Given the description of an element on the screen output the (x, y) to click on. 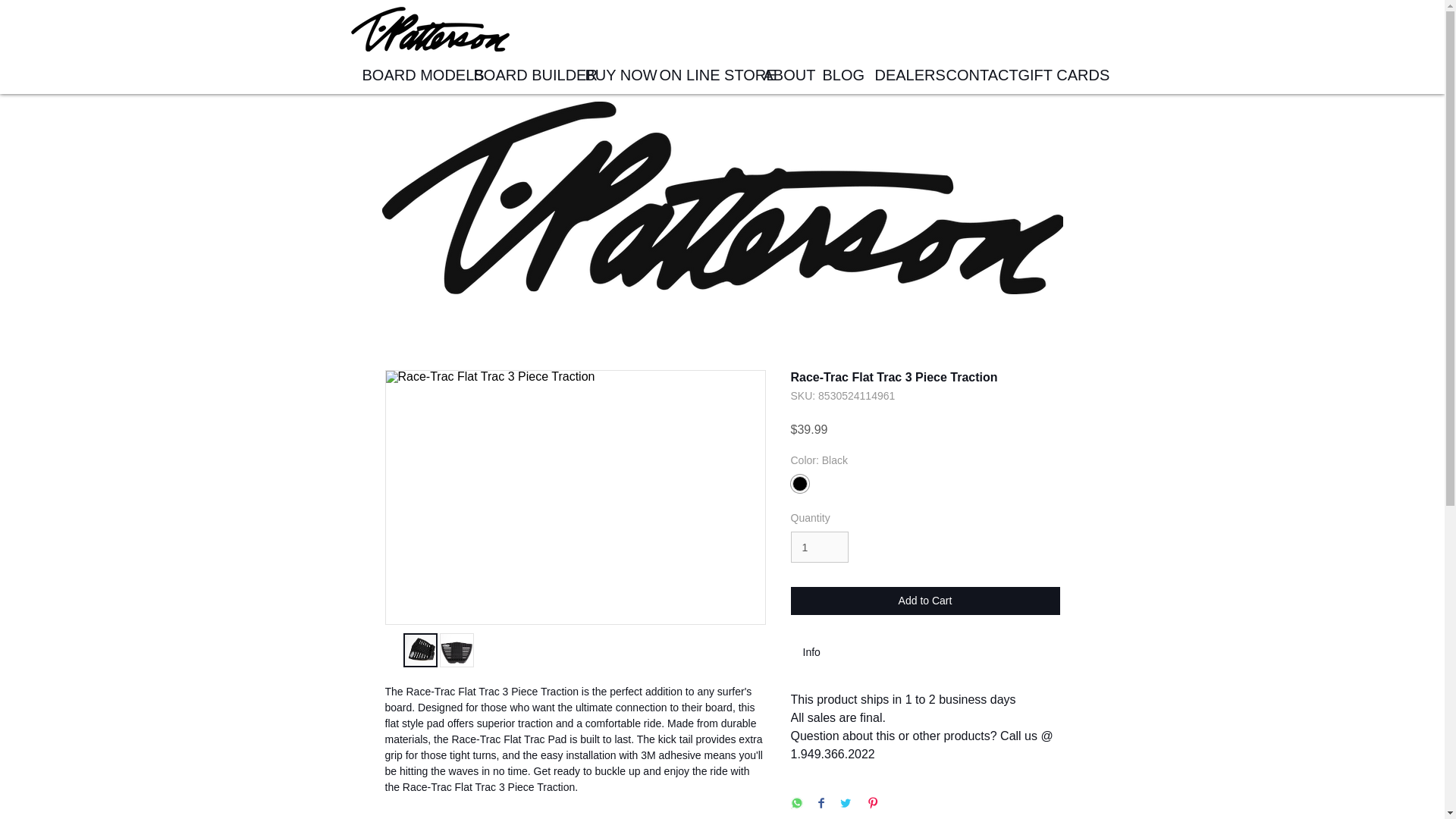
ABOUT (781, 75)
DEALERS (898, 75)
Use right and left arrows to navigate between tabs (818, 652)
BLOG (836, 75)
CONTACT (970, 75)
ON LINE STORE (699, 75)
GIFT CARDS (1050, 75)
BOARD MODELS (405, 75)
Add to Cart (924, 601)
1 (818, 546)
BOARD BUILDER (518, 75)
